Given the description of an element on the screen output the (x, y) to click on. 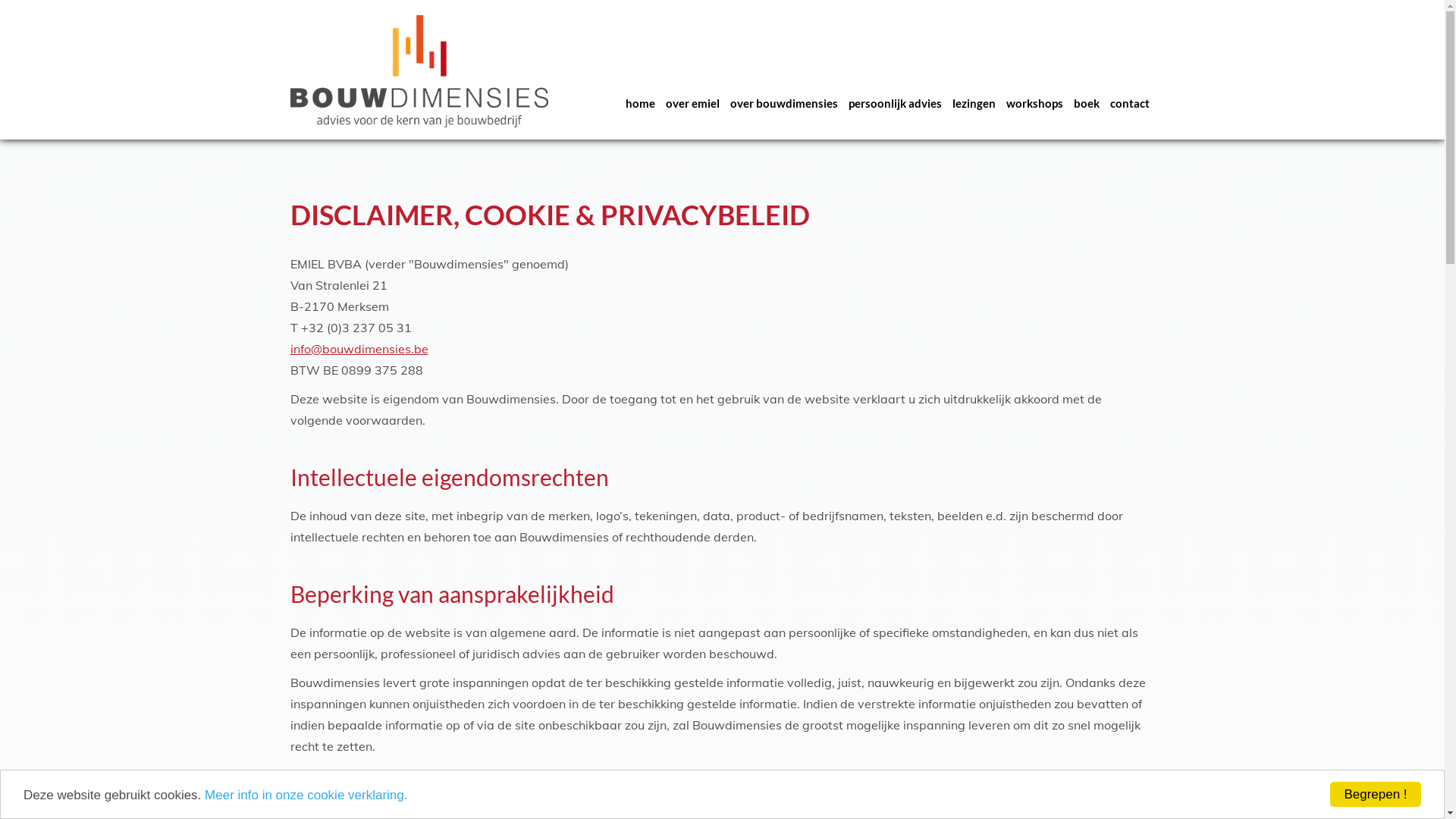
lezingen Element type: text (973, 101)
over emiel Element type: text (691, 101)
home Element type: text (640, 101)
persoonlijk advies Element type: text (895, 101)
Meer info in onze cookie verklaring. Element type: text (305, 794)
over bouwdimensies Element type: text (783, 101)
boek Element type: text (1085, 101)
Begrepen ! Element type: text (1375, 793)
contact Element type: text (1129, 101)
info@bouwdimensies.be Element type: text (358, 348)
workshops Element type: text (1034, 101)
